Given the description of an element on the screen output the (x, y) to click on. 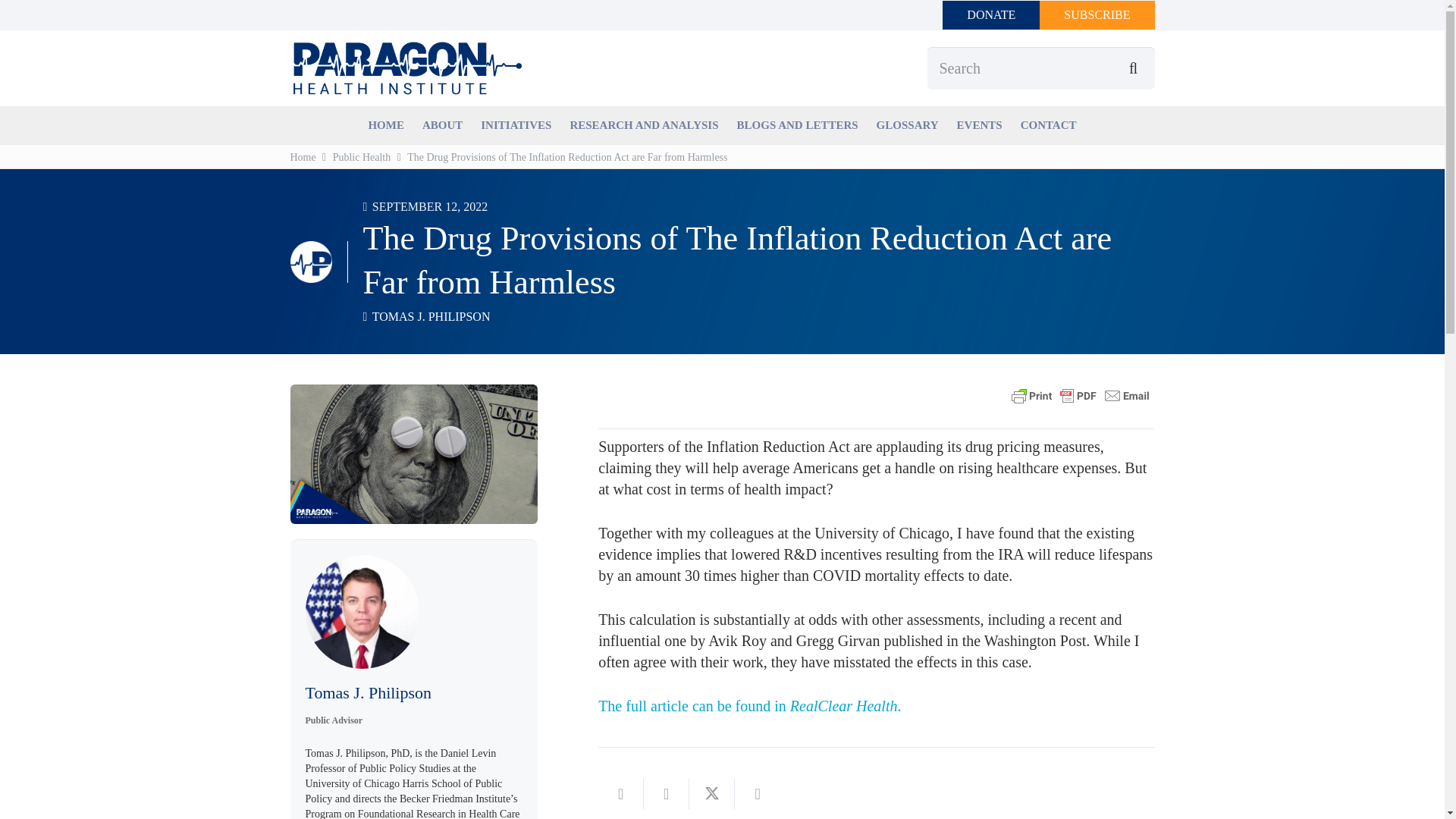
Share this (665, 793)
DONATE (990, 14)
Tweet this (711, 793)
RESEARCH AND ANALYSIS (643, 124)
Share this (757, 793)
BLOGS AND LETTERS (797, 124)
INITIATIVES (515, 124)
Email this (620, 793)
ABOUT (442, 124)
CONTACT (1048, 124)
